Given the description of an element on the screen output the (x, y) to click on. 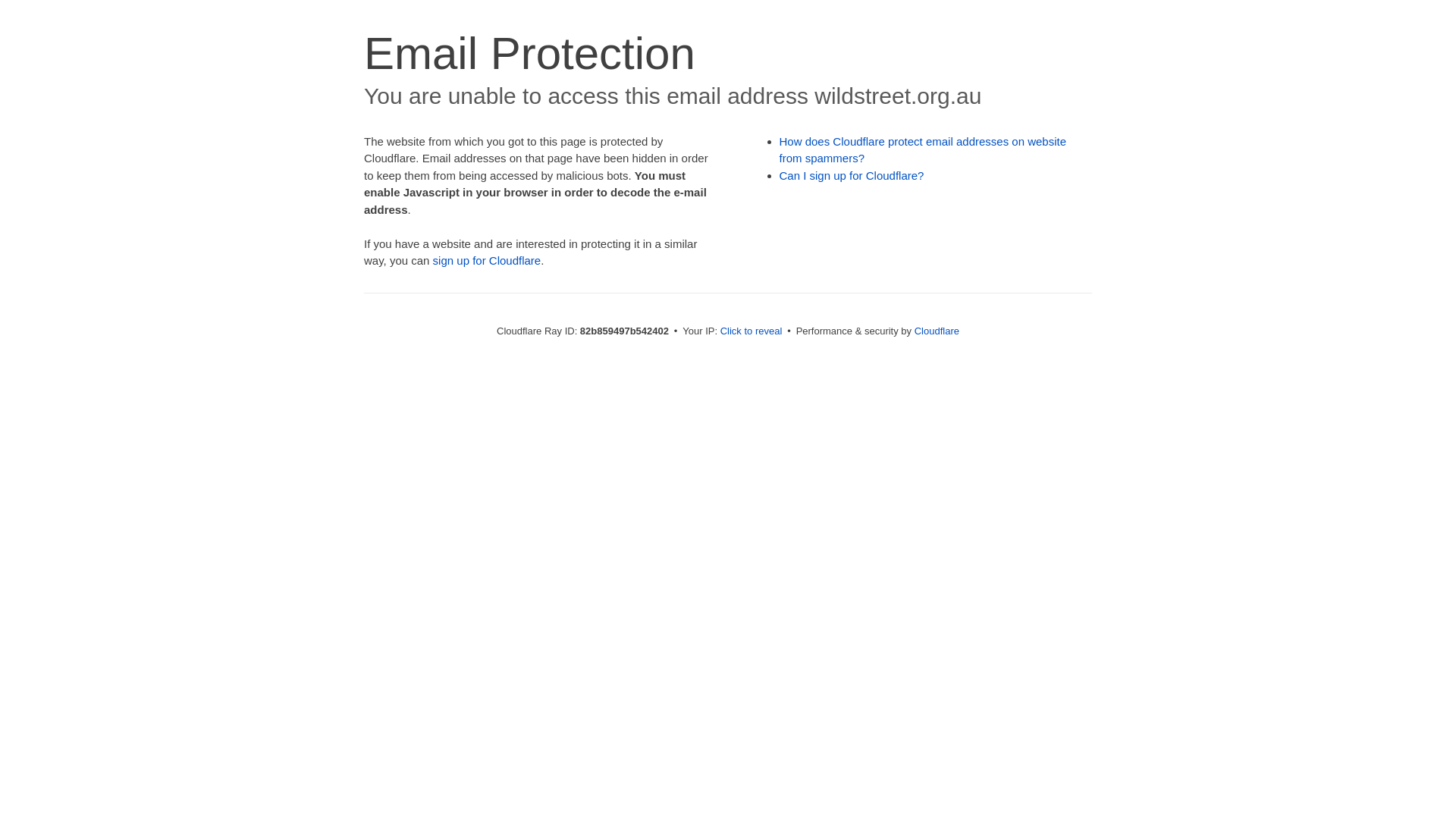
Cloudflare Element type: text (936, 330)
Click to reveal Element type: text (751, 330)
sign up for Cloudflare Element type: text (487, 260)
Can I sign up for Cloudflare? Element type: text (851, 175)
